Given the description of an element on the screen output the (x, y) to click on. 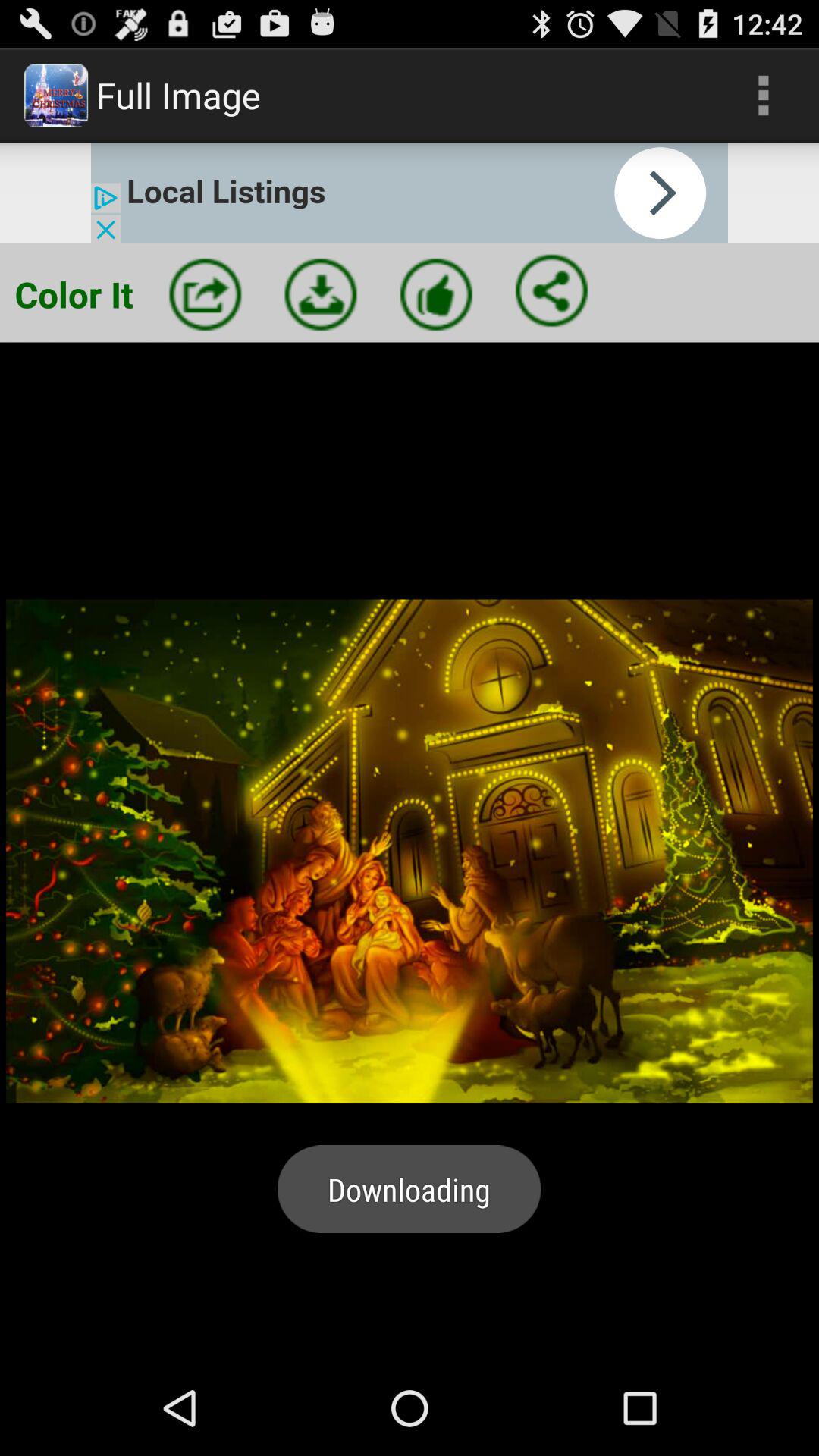
link to advertisement (409, 192)
